Given the description of an element on the screen output the (x, y) to click on. 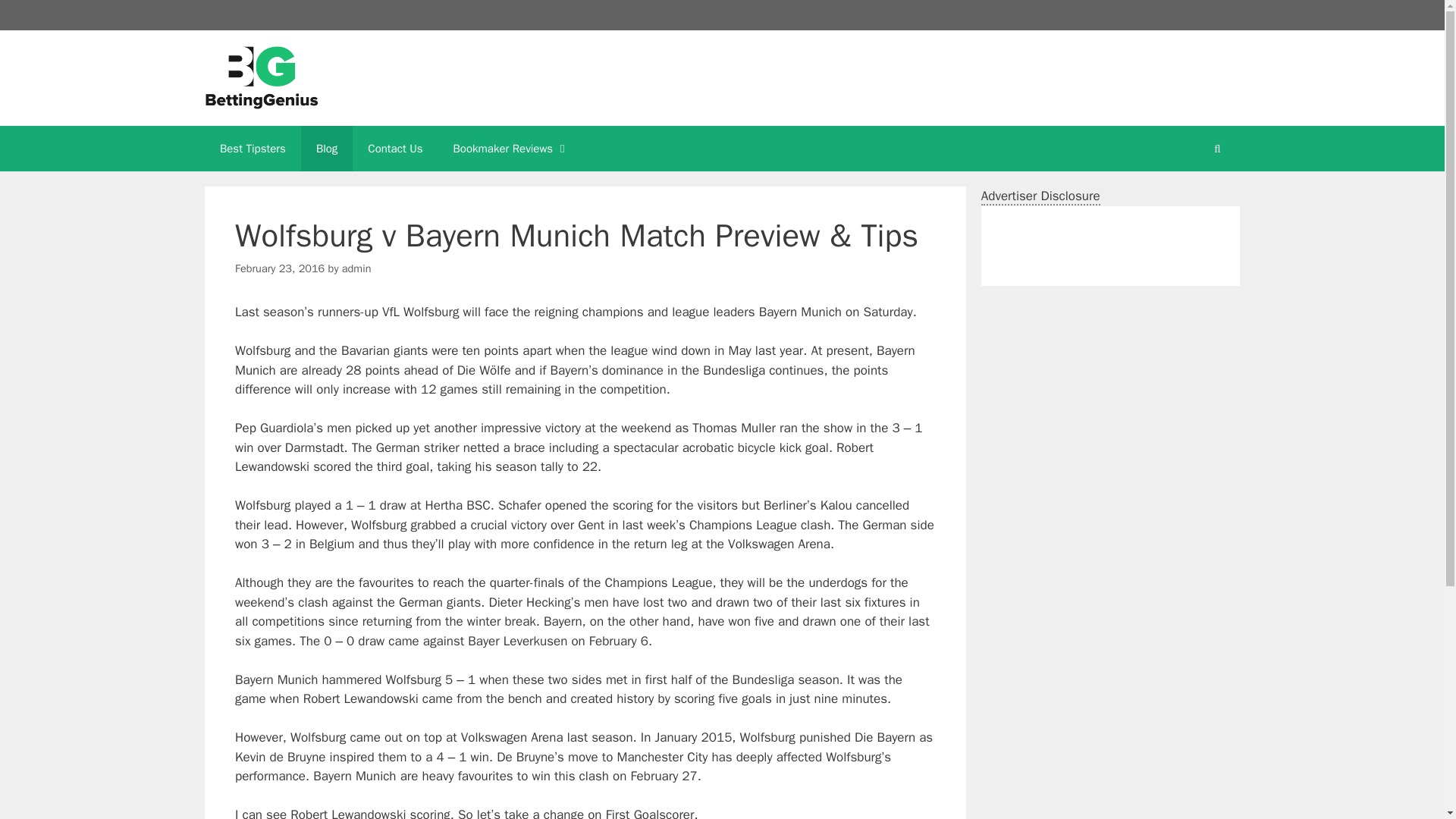
Blog (326, 148)
admin (356, 268)
View all posts by admin (356, 268)
Contact Us (395, 148)
Bookmaker Reviews (511, 148)
Best Tipsters (253, 148)
